Given the description of an element on the screen output the (x, y) to click on. 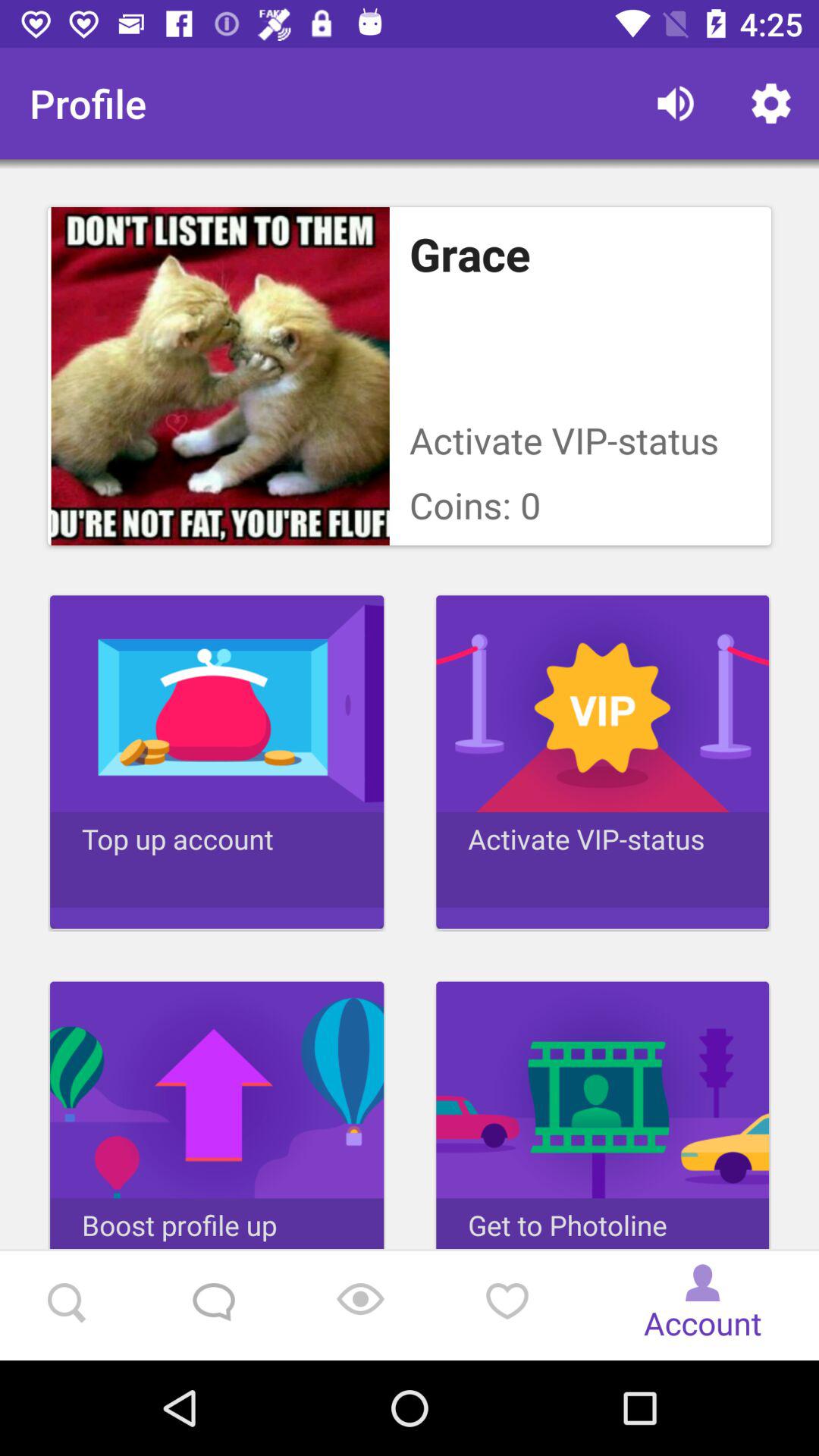
open the icon next to profile icon (675, 103)
